Given the description of an element on the screen output the (x, y) to click on. 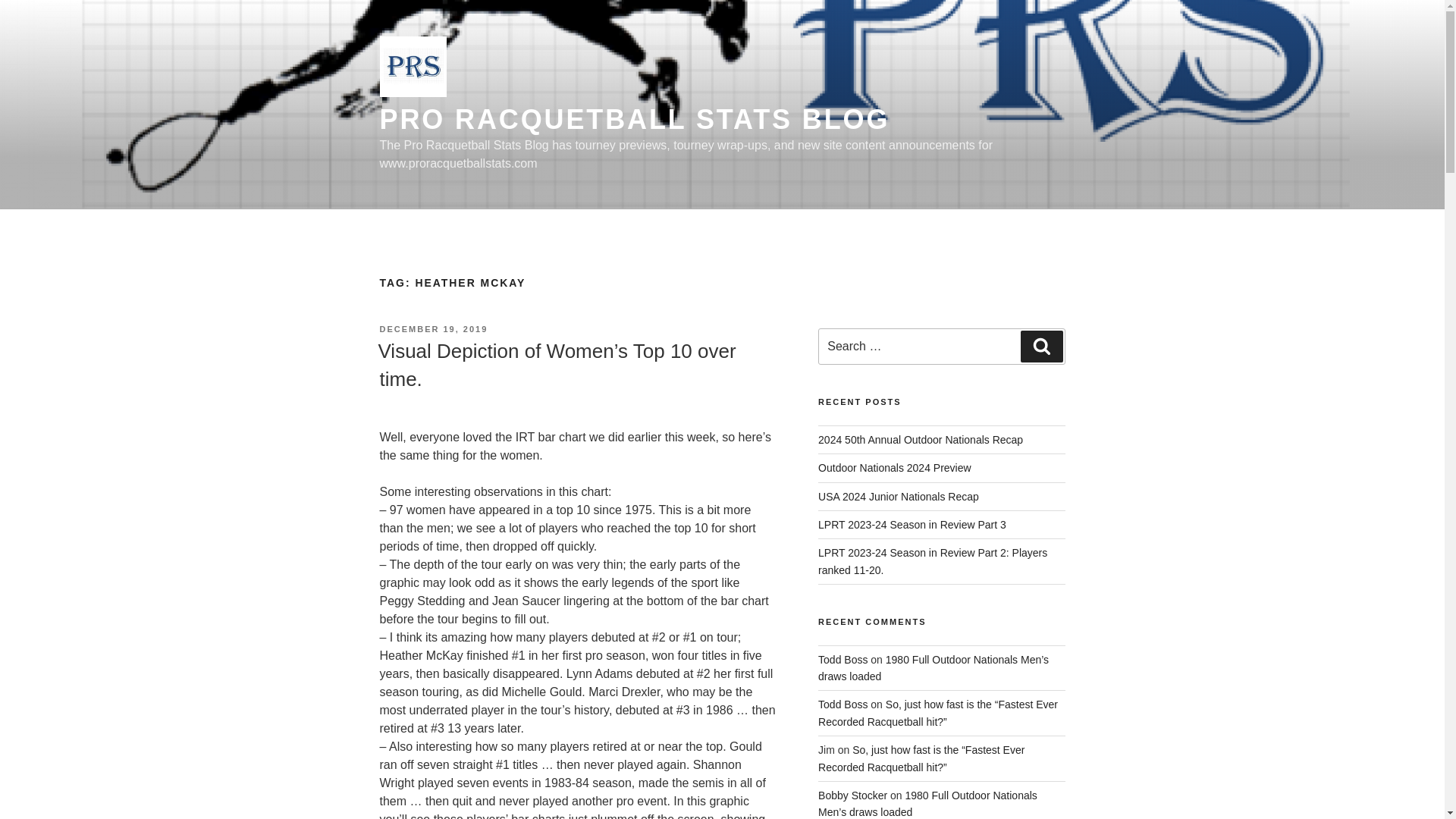
Outdoor Nationals 2024 Preview (894, 467)
LPRT 2023-24 Season in Review Part 3 (912, 524)
Search (1041, 346)
Todd Boss (842, 659)
DECEMBER 19, 2019 (432, 328)
Bobby Stocker (852, 795)
Todd Boss (842, 704)
USA 2024 Junior Nationals Recap (898, 496)
PRO RACQUETBALL STATS BLOG (633, 119)
2024 50th Annual Outdoor Nationals Recap (920, 439)
LPRT 2023-24 Season in Review Part 2: Players ranked 11-20. (932, 561)
